Given the description of an element on the screen output the (x, y) to click on. 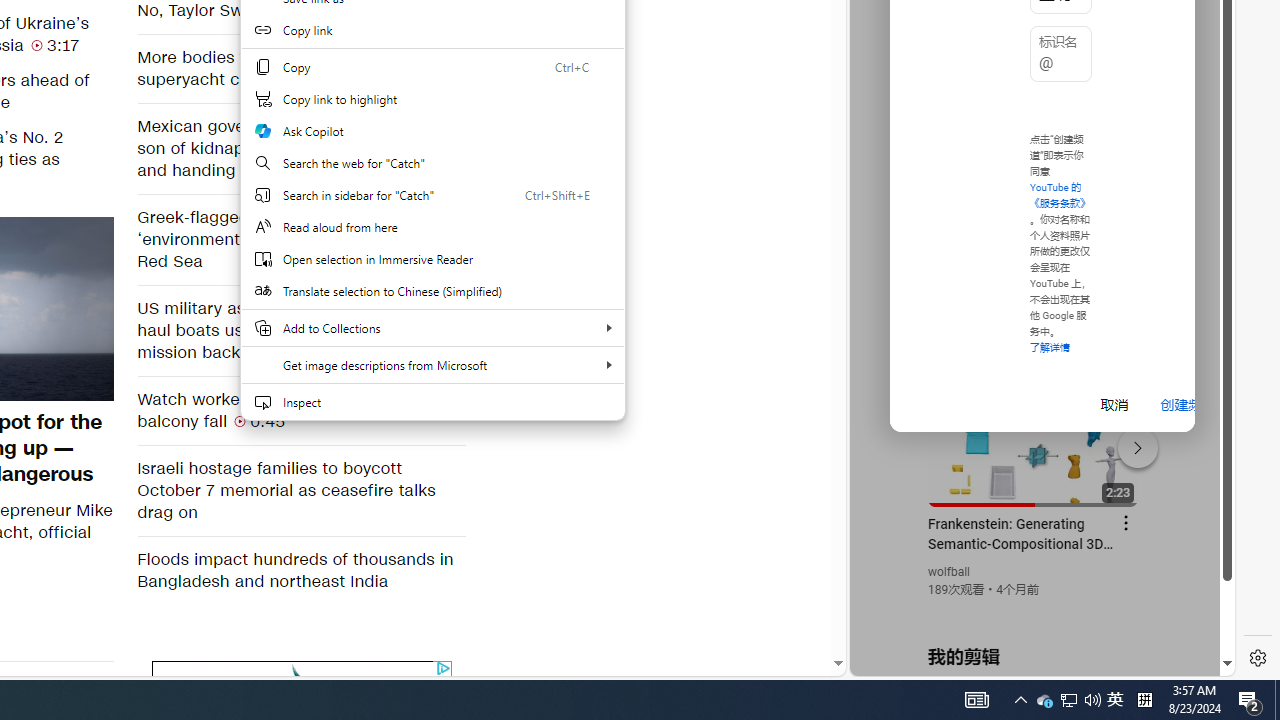
Translate selection to Chinese (Simplified) (432, 290)
YouTube - YouTube (1034, 266)
Class: container__video-duration-icon (240, 420)
US[ju] (917, 660)
Watch worker save young boy from balcony fall 0:45 (300, 410)
More bodies found in search after superyacht capsizes 1:53 (300, 68)
YouTube (1034, 432)
you (1034, 609)
